Given the description of an element on the screen output the (x, y) to click on. 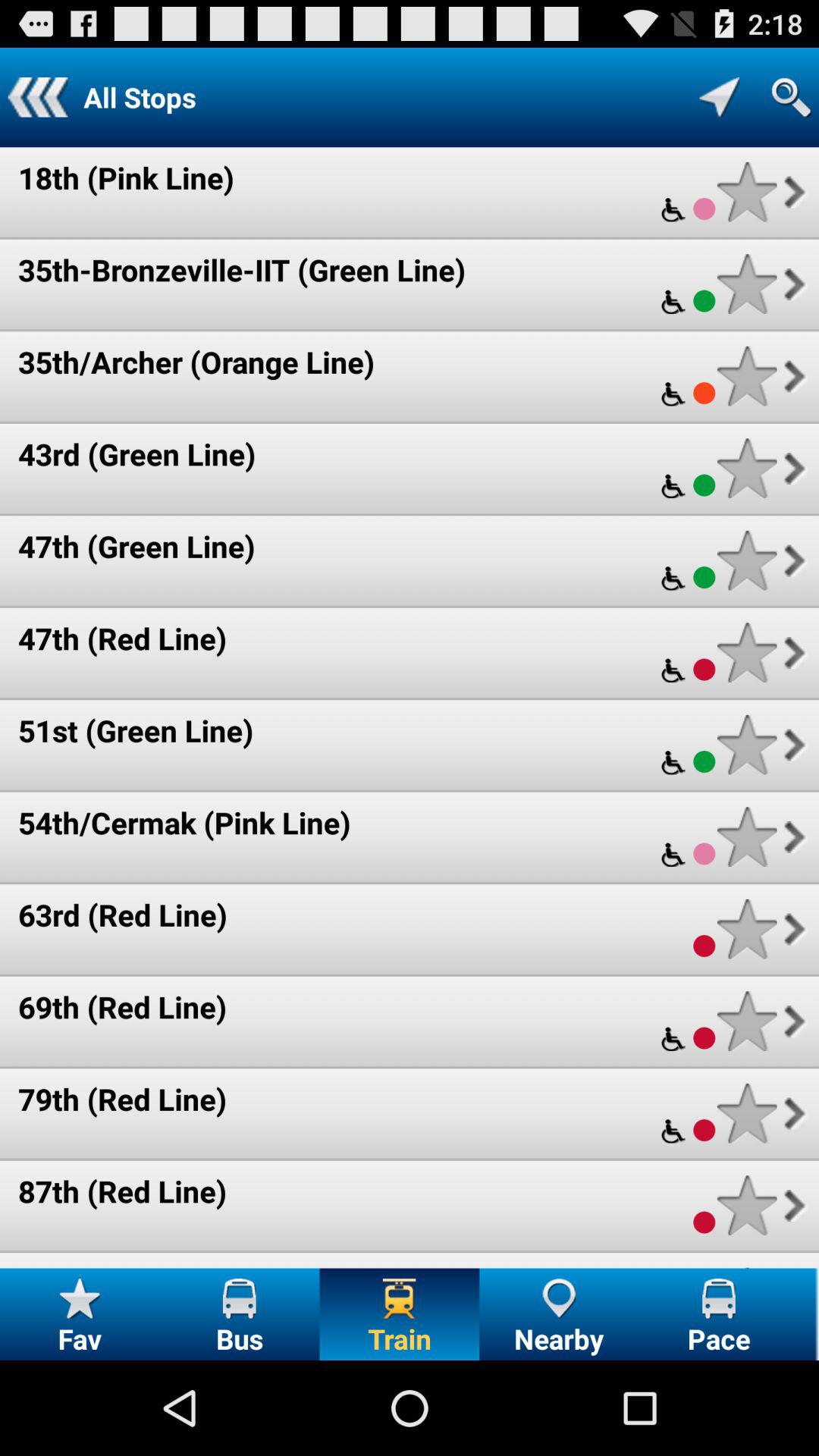
add to favorites (746, 652)
